Given the description of an element on the screen output the (x, y) to click on. 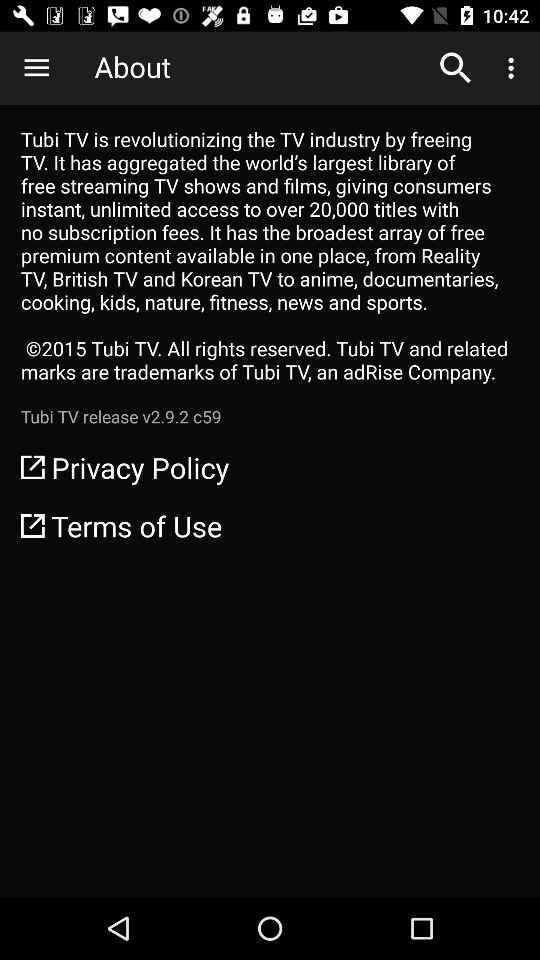
open the item to the right of about (455, 67)
